Given the description of an element on the screen output the (x, y) to click on. 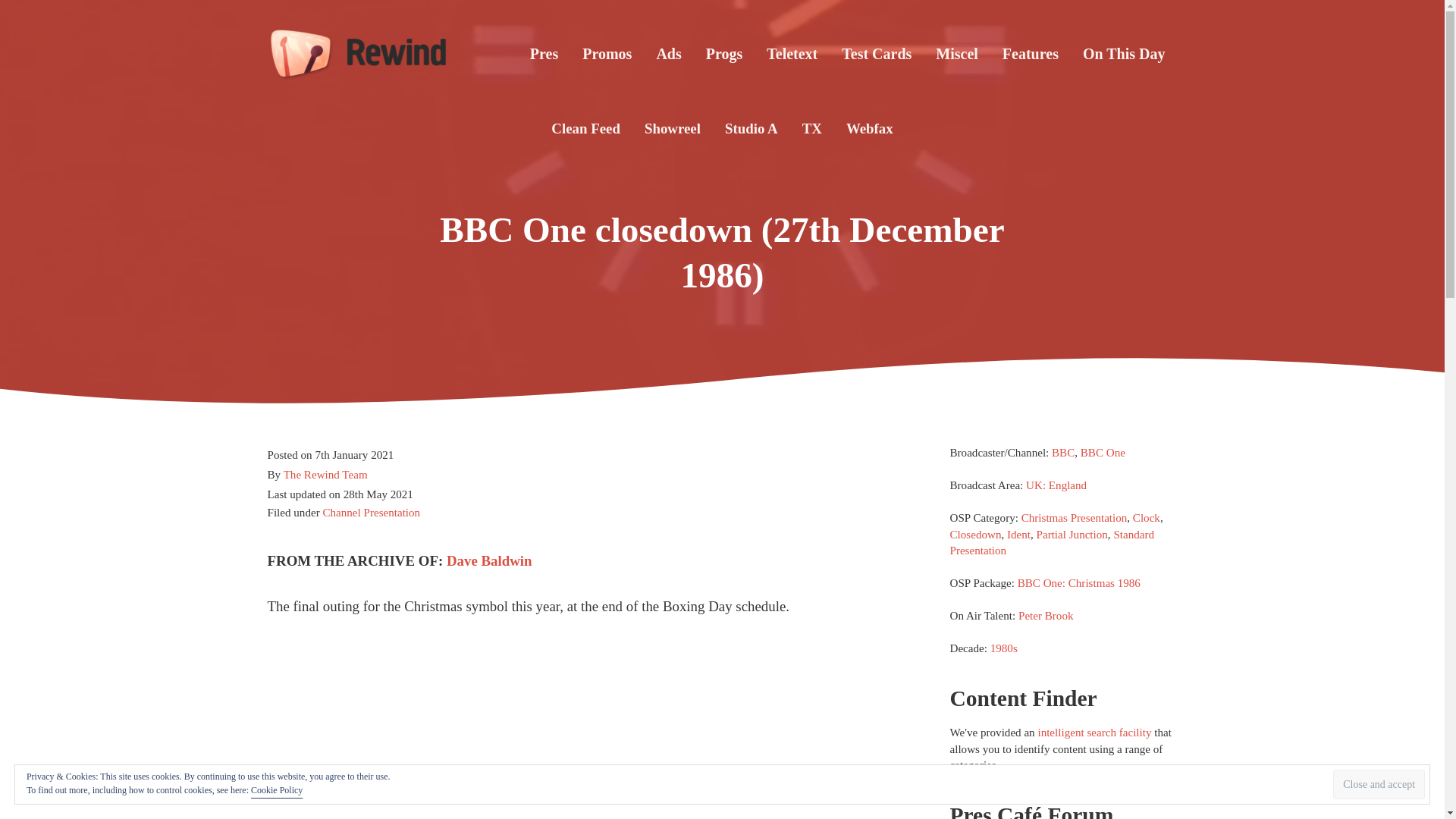
Promos (606, 53)
Pres (544, 53)
Features (1030, 53)
BBC One (1102, 452)
Ads (668, 53)
Showreel (672, 128)
Studio A (751, 128)
Close and accept (1379, 784)
The Rewind Team (325, 475)
Test Cards (876, 53)
Dave Baldwin (489, 560)
Channel Presentation (370, 512)
Webfax (869, 128)
BBC (1062, 452)
